Given the description of an element on the screen output the (x, y) to click on. 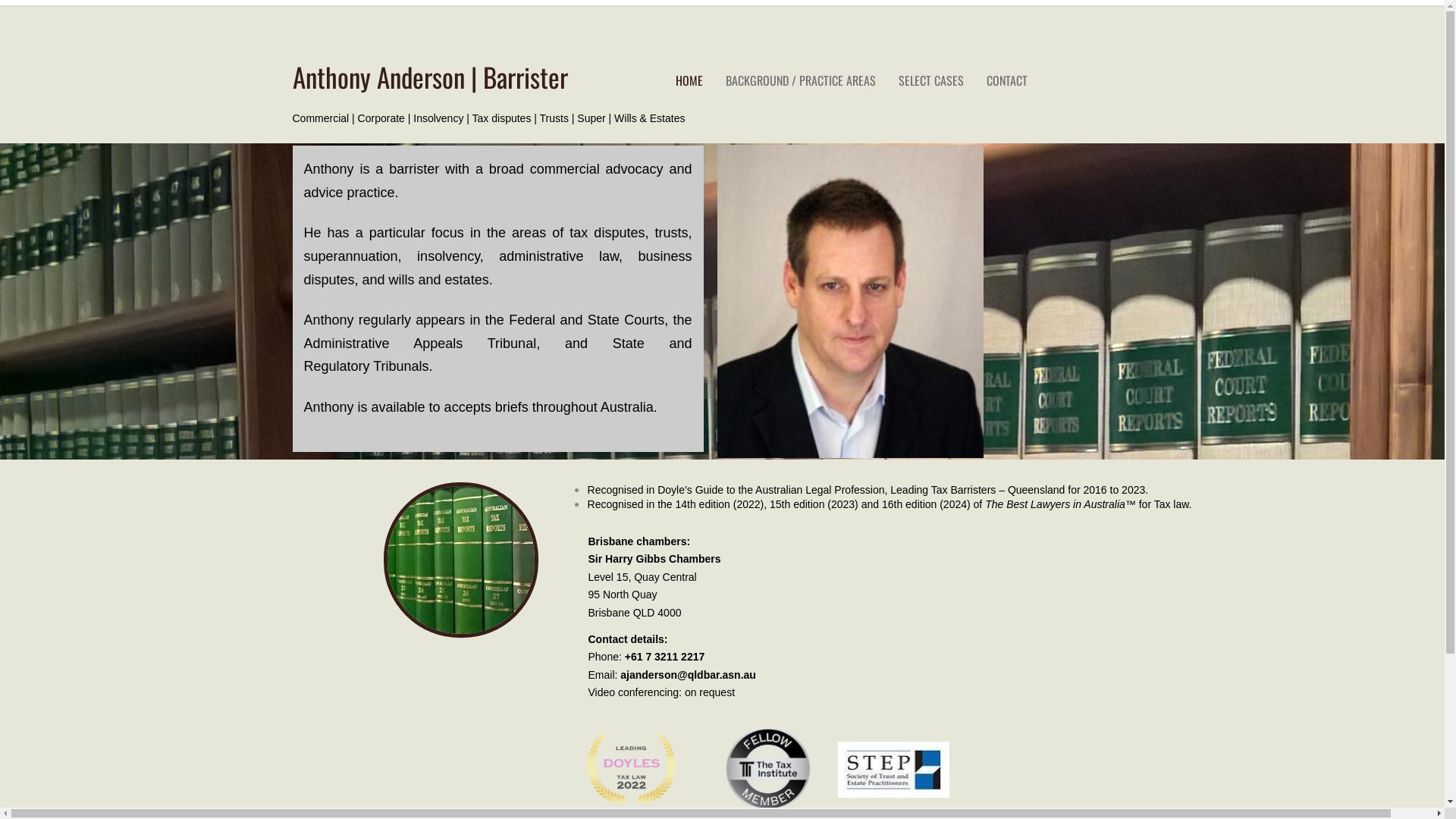
Sir Harry Gibbs Chambers Element type: text (654, 558)
16th edition (2024) Element type: text (925, 504)
HOME Element type: text (689, 80)
CONTACT Element type: text (1006, 80)
14th edition (2022) Element type: text (718, 504)
BACKGROUND / PRACTICE AREAS Element type: text (800, 80)
SELECT CASES Element type: text (931, 80)
202 Element type: text (1130, 488)
